Given the description of an element on the screen output the (x, y) to click on. 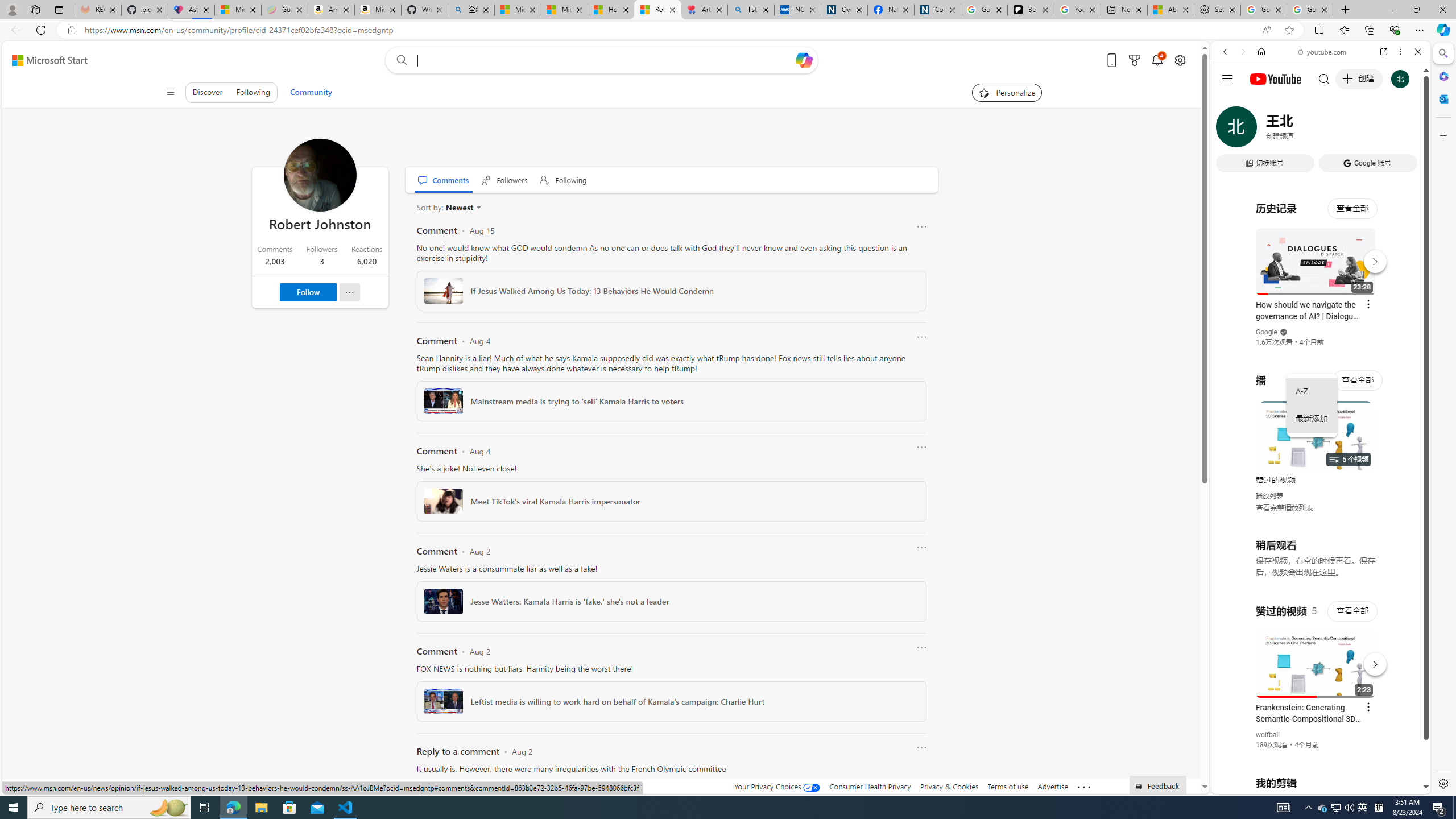
 Followers (505, 179)
Cookies (937, 9)
Show More Music (1390, 310)
